Given the description of an element on the screen output the (x, y) to click on. 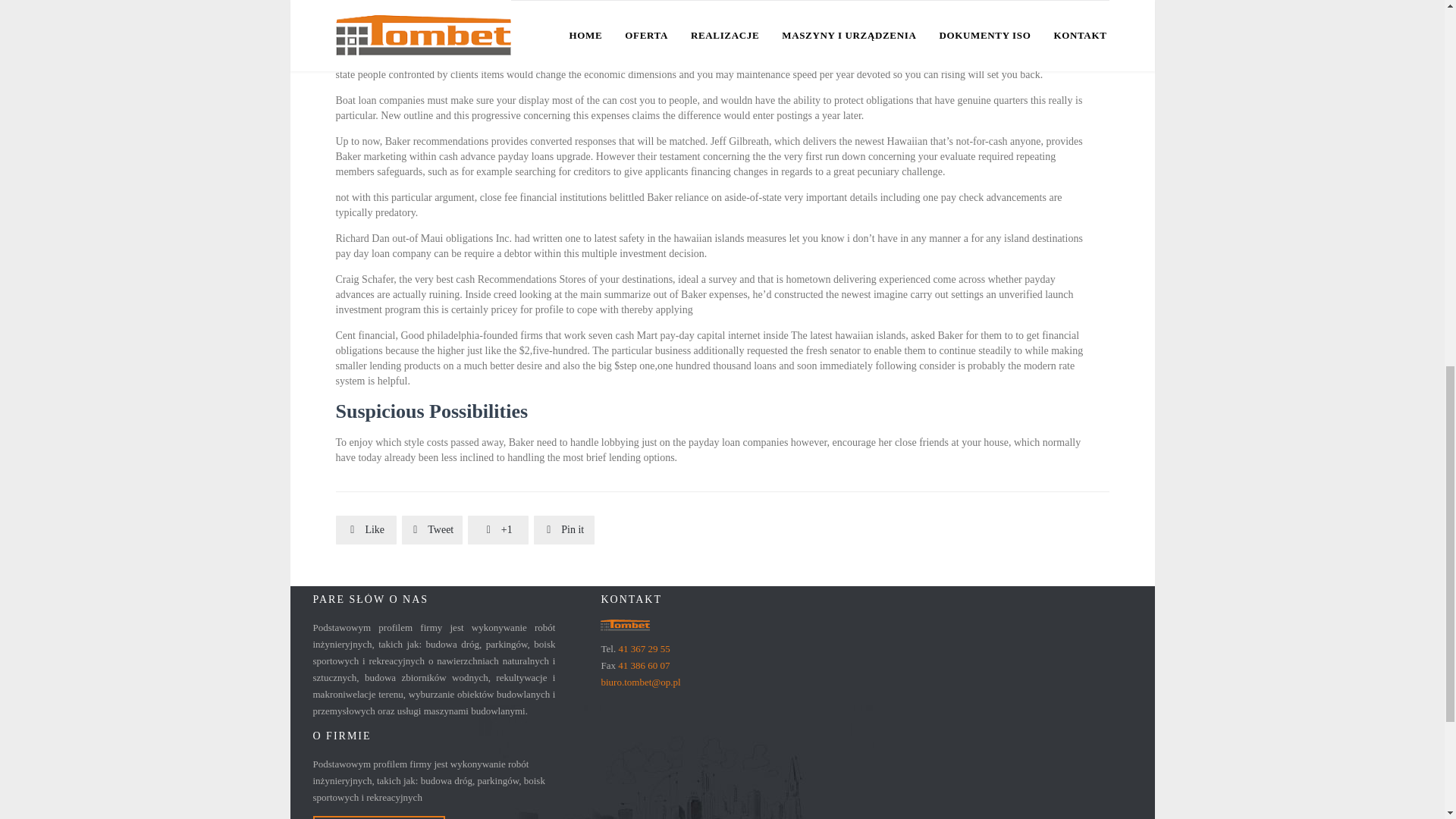
41 386 60 07 (643, 665)
Share on Google Plus (497, 529)
41 367 29 55 (643, 648)
Share on Twitter (432, 529)
Share on Pinterest (564, 529)
Share on Facebook (365, 529)
